Given the description of an element on the screen output the (x, y) to click on. 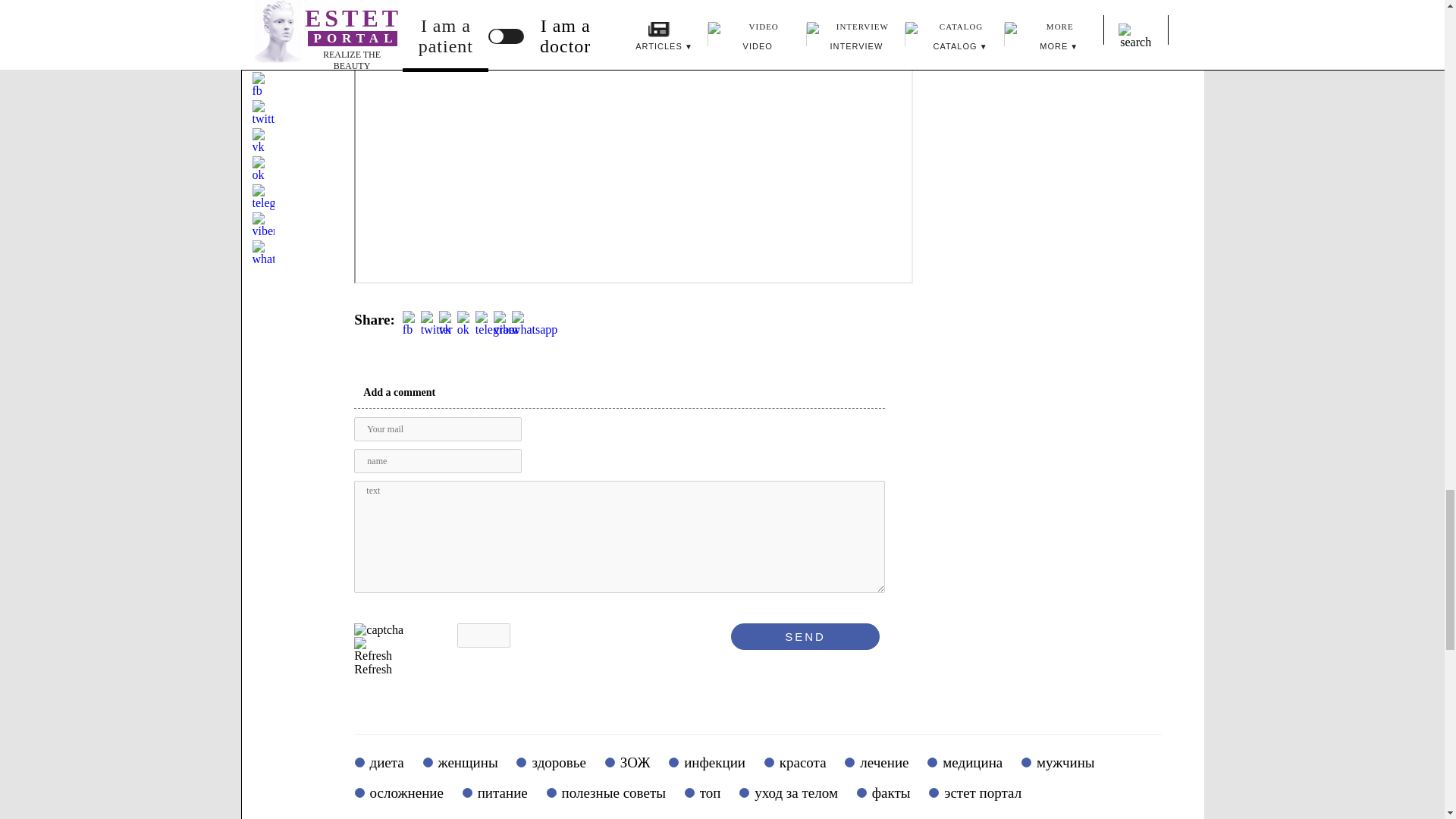
Send (804, 636)
